Given the description of an element on the screen output the (x, y) to click on. 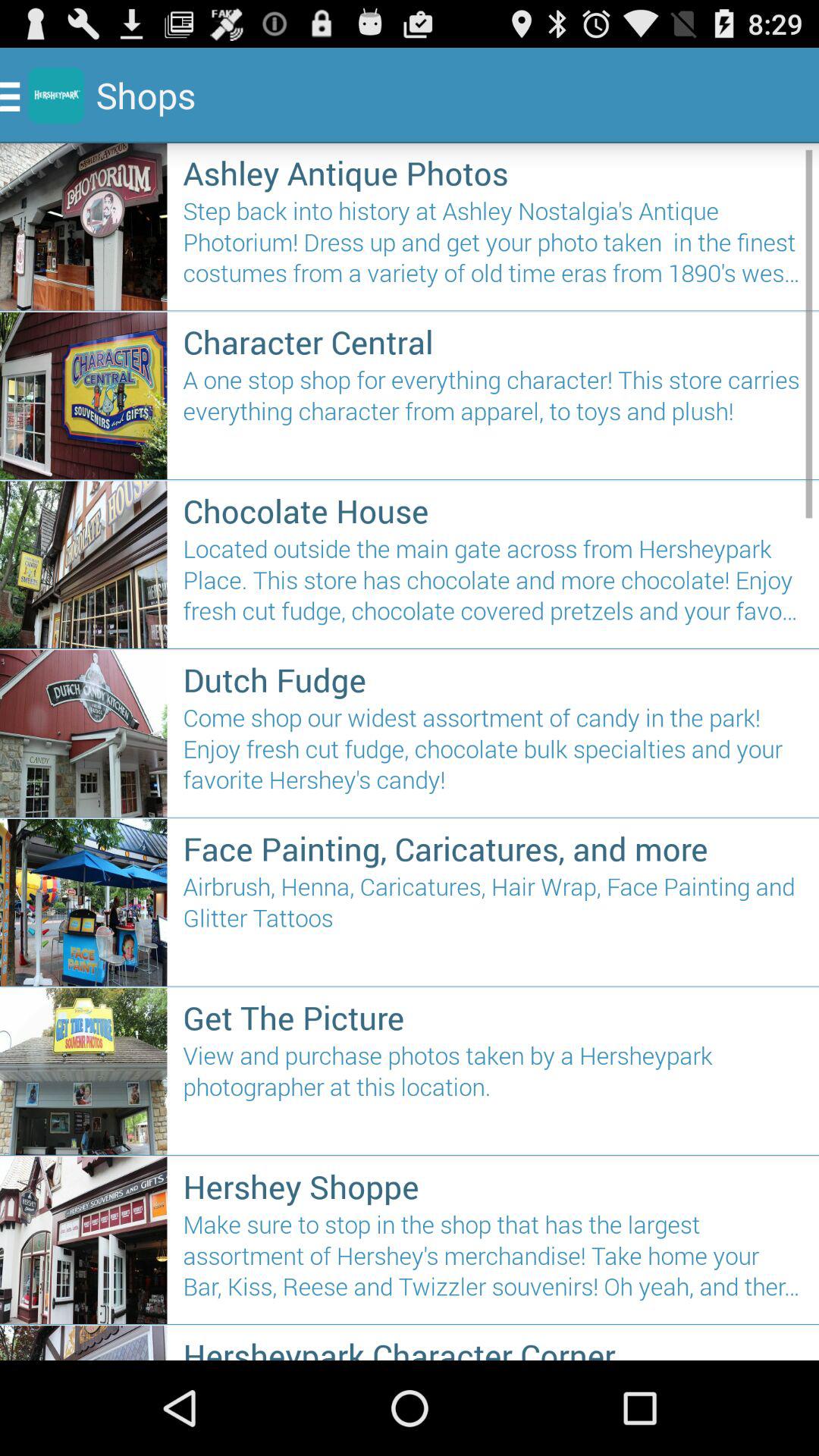
swipe until make sure to (493, 1262)
